Given the description of an element on the screen output the (x, y) to click on. 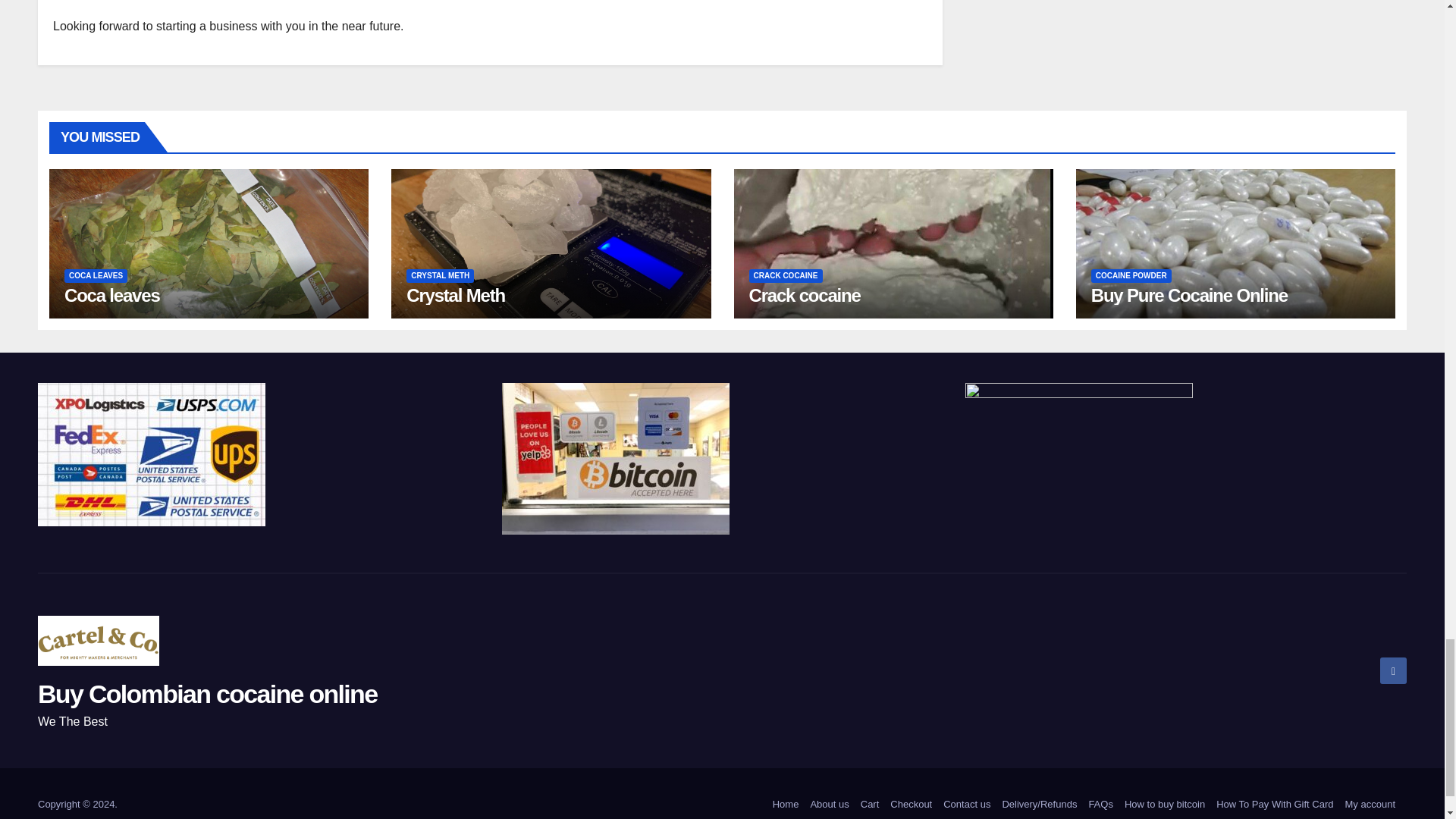
Permalink to: Coca leaves (112, 295)
Permalink to: Crack cocaine (804, 295)
Permalink to: Buy Pure Cocaine Online (1188, 295)
Permalink to: Crystal Meth (455, 295)
Home (786, 803)
